Given the description of an element on the screen output the (x, y) to click on. 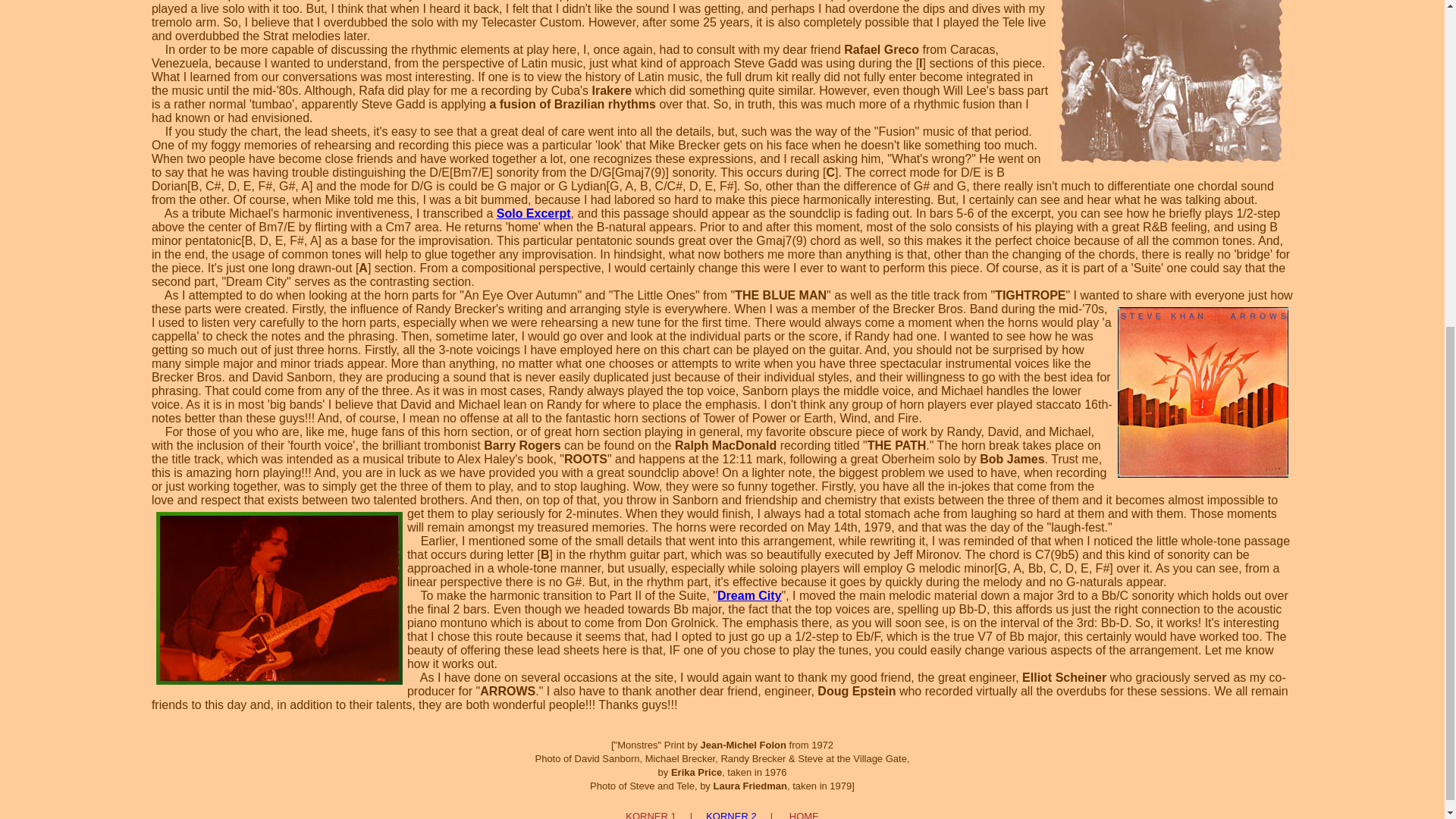
Dream City (748, 594)
Solo Excerpt (533, 213)
